Given the description of an element on the screen output the (x, y) to click on. 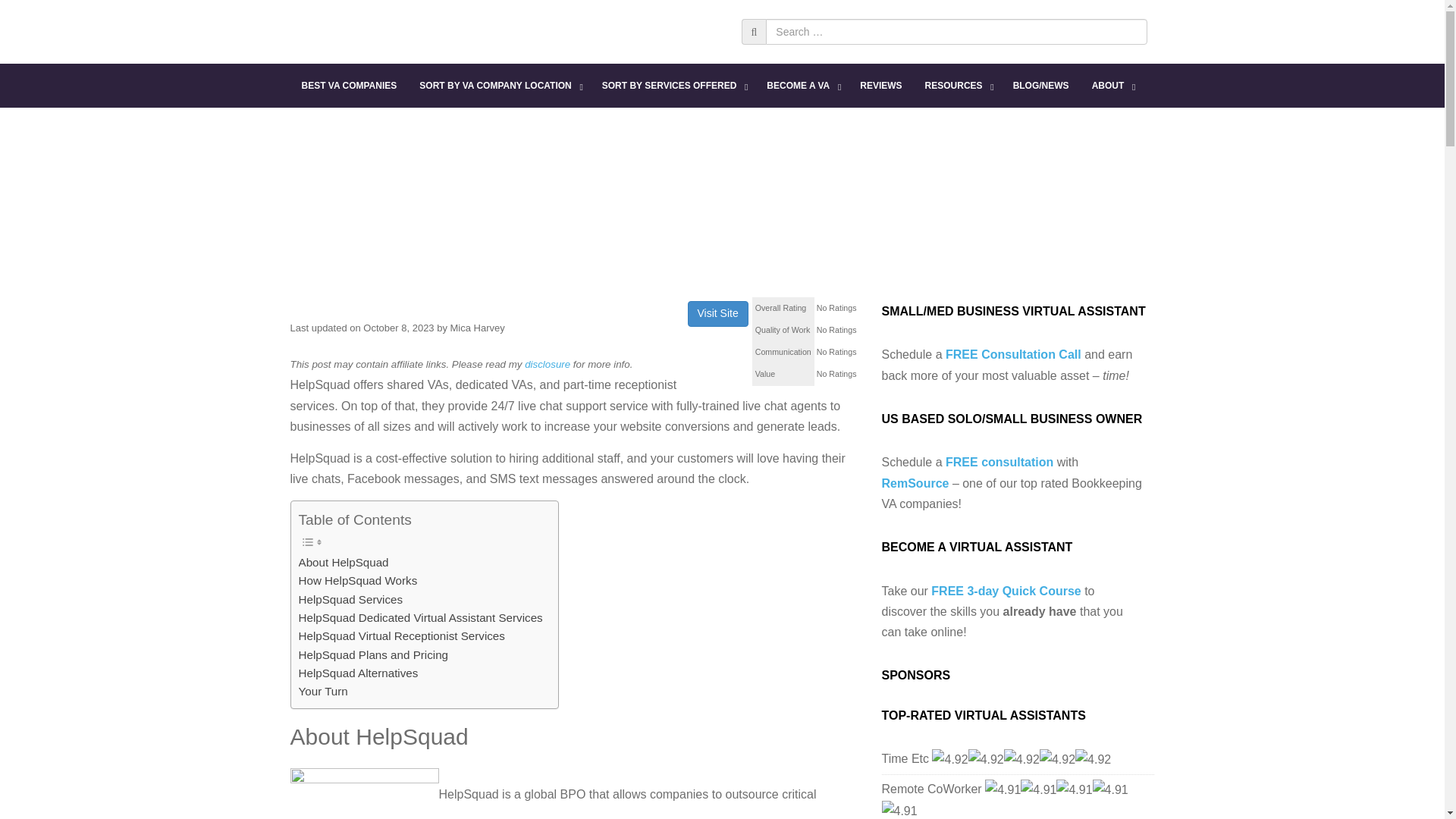
HelpSquad Plans and Pricing (373, 655)
HelpSquad Dedicated Virtual Assistant Services (420, 618)
BECOME A VA (801, 85)
Search for: (956, 31)
HelpSquad Alternatives (358, 673)
About HelpSquad (343, 562)
How HelpSquad Works (357, 580)
REVIEWS (880, 85)
Your Turn (322, 691)
RESOURCES (957, 85)
BEST VA COMPANIES (348, 85)
HelpSquad Virtual Receptionist Services (401, 636)
SORT BY VA COMPANY LOCATION (498, 85)
HelpSquad Services (350, 599)
ABOUT (1111, 85)
